Given the description of an element on the screen output the (x, y) to click on. 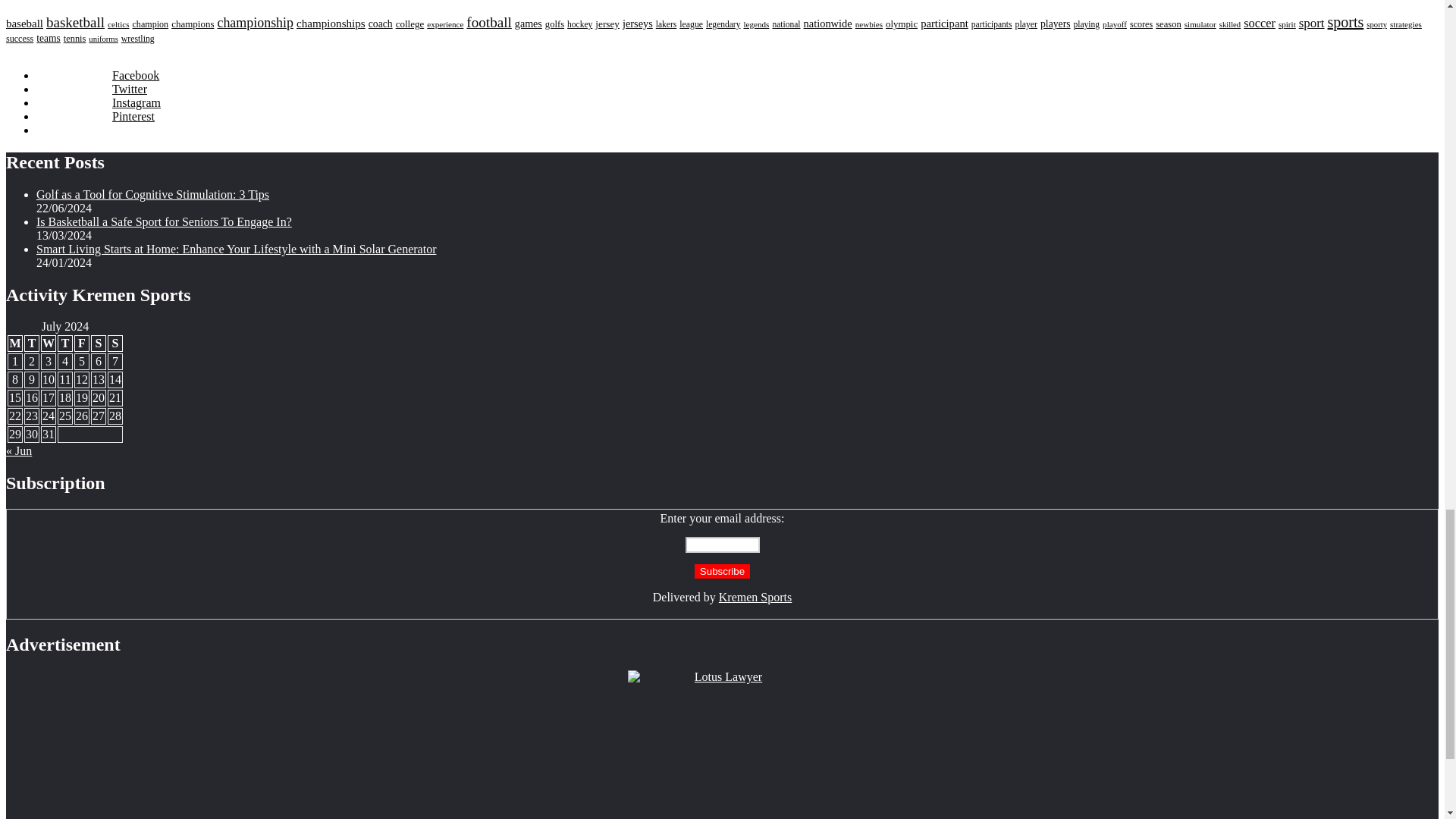
Subscribe (721, 571)
basketball (75, 22)
celtics (118, 23)
baseball (24, 23)
